Given the description of an element on the screen output the (x, y) to click on. 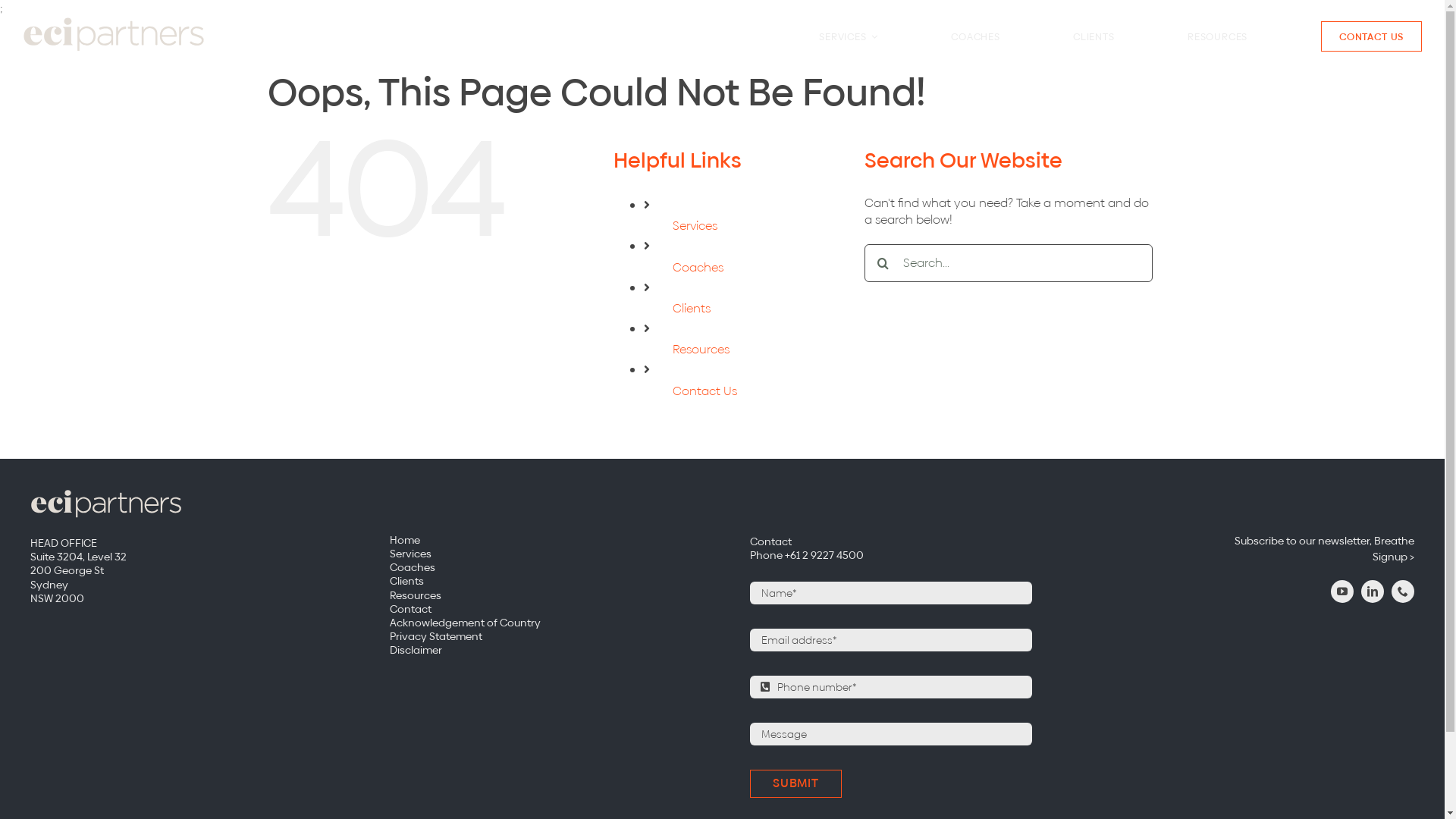
Coaches Element type: text (541, 567)
CONTACT US Element type: text (1371, 36)
Privacy Statement Element type: text (541, 636)
Resources Element type: text (541, 595)
Services Element type: text (541, 553)
Subscribe Element type: text (469, 526)
Resources Element type: text (700, 348)
CLIENTS Element type: text (1093, 36)
SUBMIT Element type: text (795, 783)
Acknowledgement of Country Element type: text (541, 622)
Clients Element type: text (691, 307)
Contact Element type: text (541, 608)
Disclaimer Element type: text (541, 649)
Contact Element type: text (770, 541)
Contact Us Element type: text (704, 390)
Services Element type: text (694, 225)
Signup > Element type: text (1261, 556)
RESOURCES Element type: text (1217, 36)
Phone +61 2 9227 4500 Element type: text (806, 554)
Coaches Element type: text (697, 267)
COACHES Element type: text (974, 36)
SERVICES Element type: text (848, 36)
Home Element type: text (541, 539)
Clients Element type: text (541, 580)
Subscribe to our newsletter, Breathe Element type: text (1261, 540)
